Given the description of an element on the screen output the (x, y) to click on. 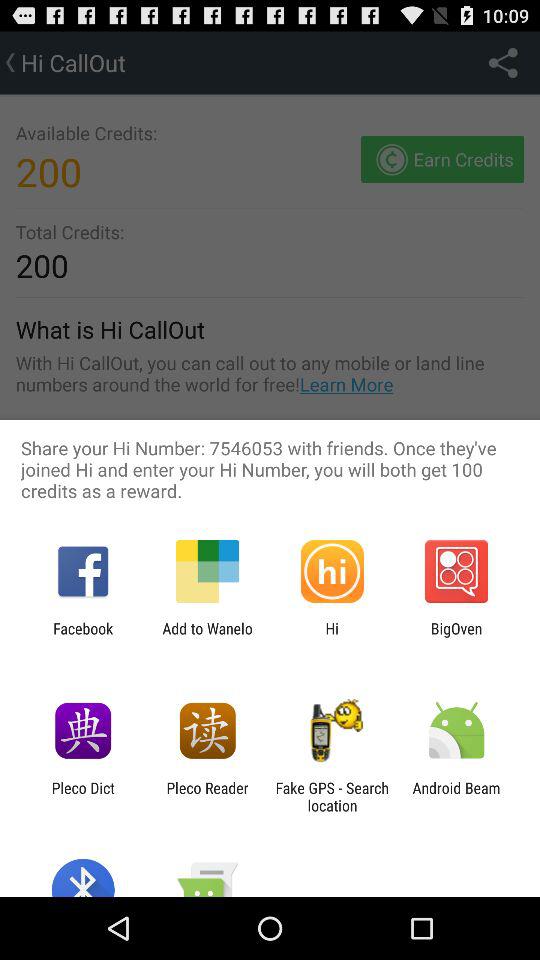
click item to the left of the pleco reader (82, 796)
